Given the description of an element on the screen output the (x, y) to click on. 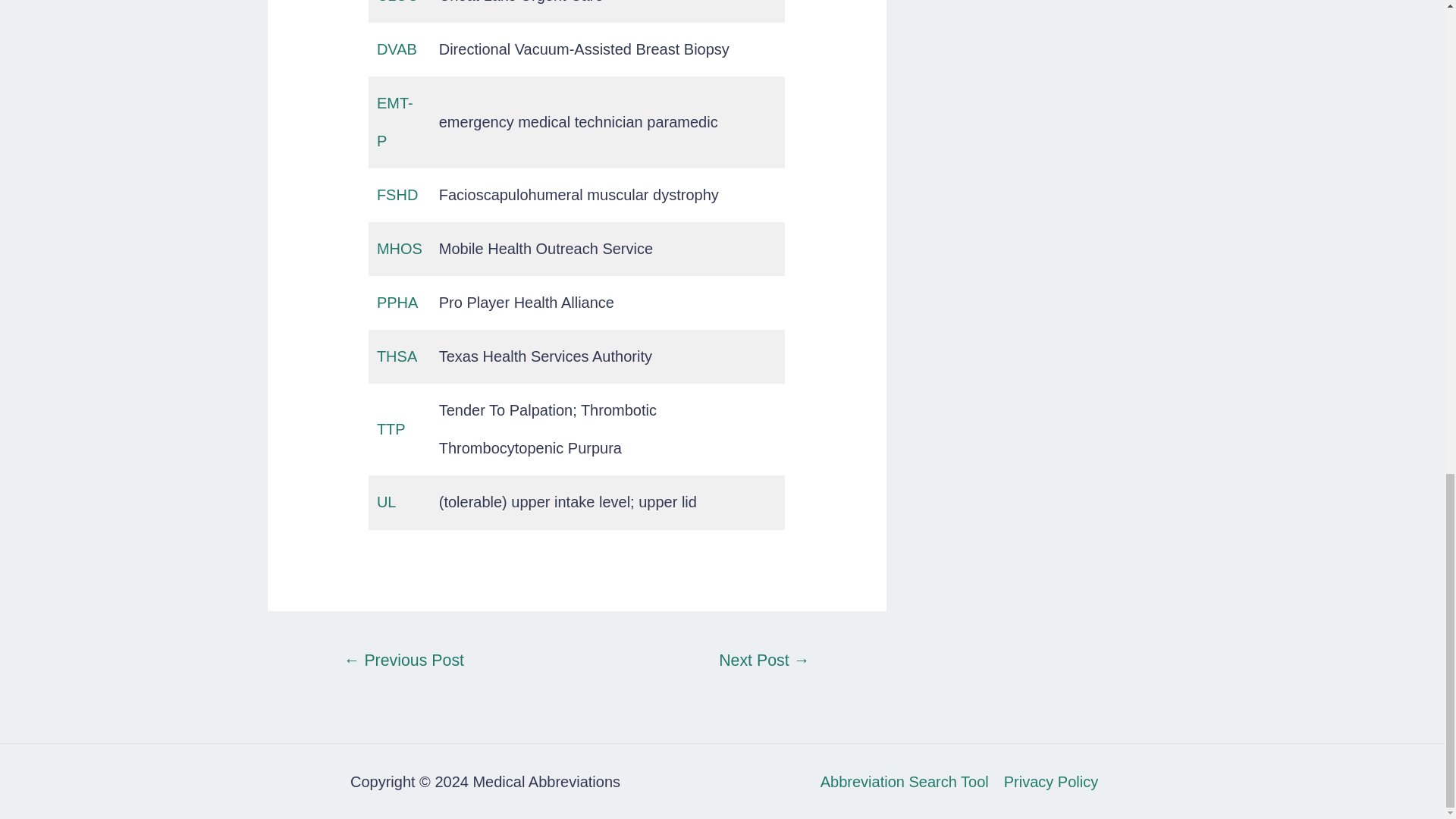
THSA (396, 356)
MHOS (399, 248)
FSHD (397, 194)
Abbreviation Search Tool (908, 781)
CLUC (397, 2)
DVAB (396, 48)
UL (386, 501)
Privacy Policy (1046, 781)
PPHA (397, 302)
TTP (391, 428)
